Given the description of an element on the screen output the (x, y) to click on. 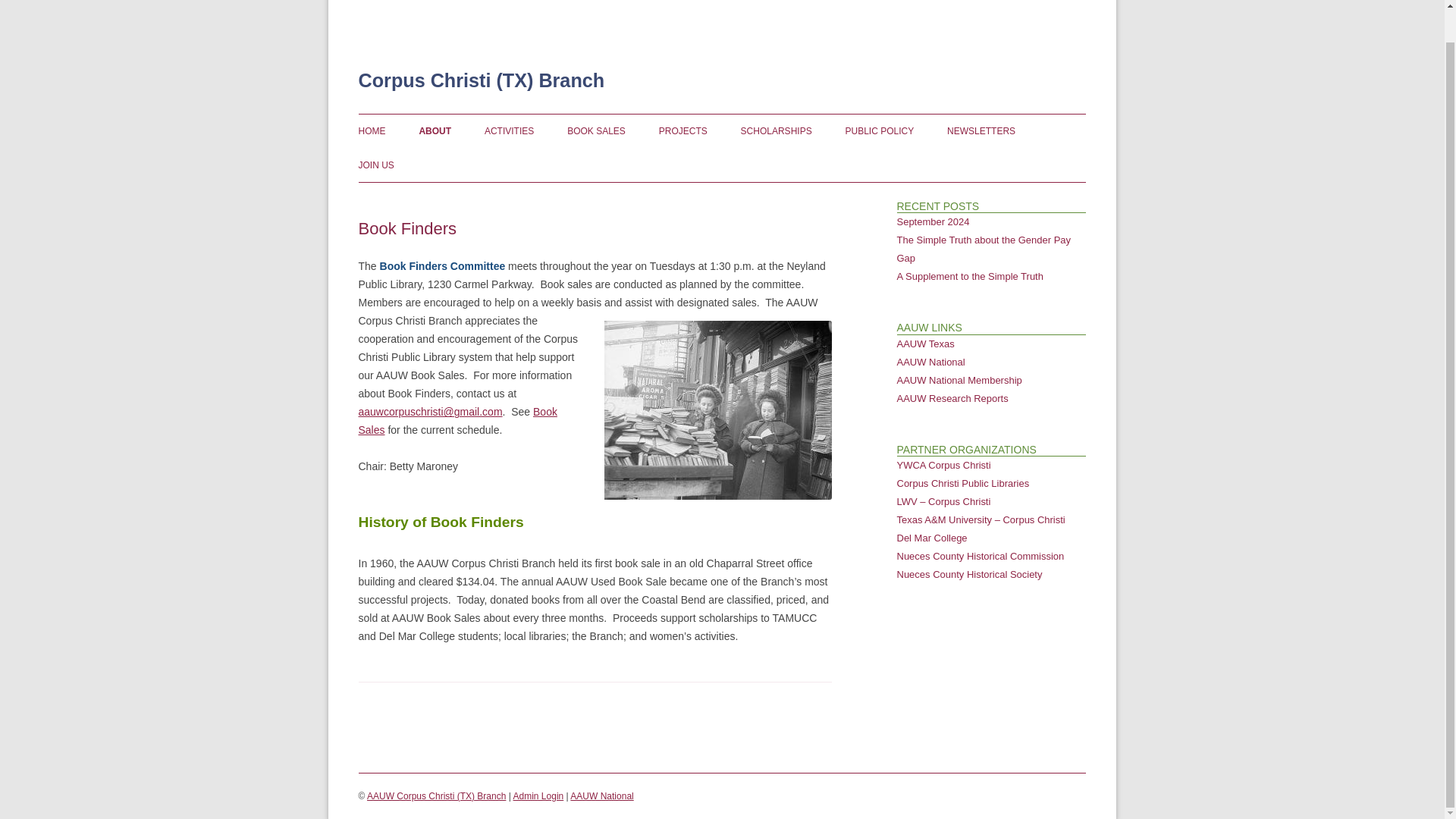
JOIN US (375, 164)
PROJECTS (683, 131)
The Simple Truth about the Gender Pay Gap (983, 248)
SCHOLARSHIPS (776, 131)
AAUW National Membership (959, 379)
Corpus Christi Public Libraries (962, 482)
ABOUT (435, 131)
PUBLIC POLICY (879, 131)
YWCA Corpus Christi (943, 464)
Book Sales (457, 420)
